Given the description of an element on the screen output the (x, y) to click on. 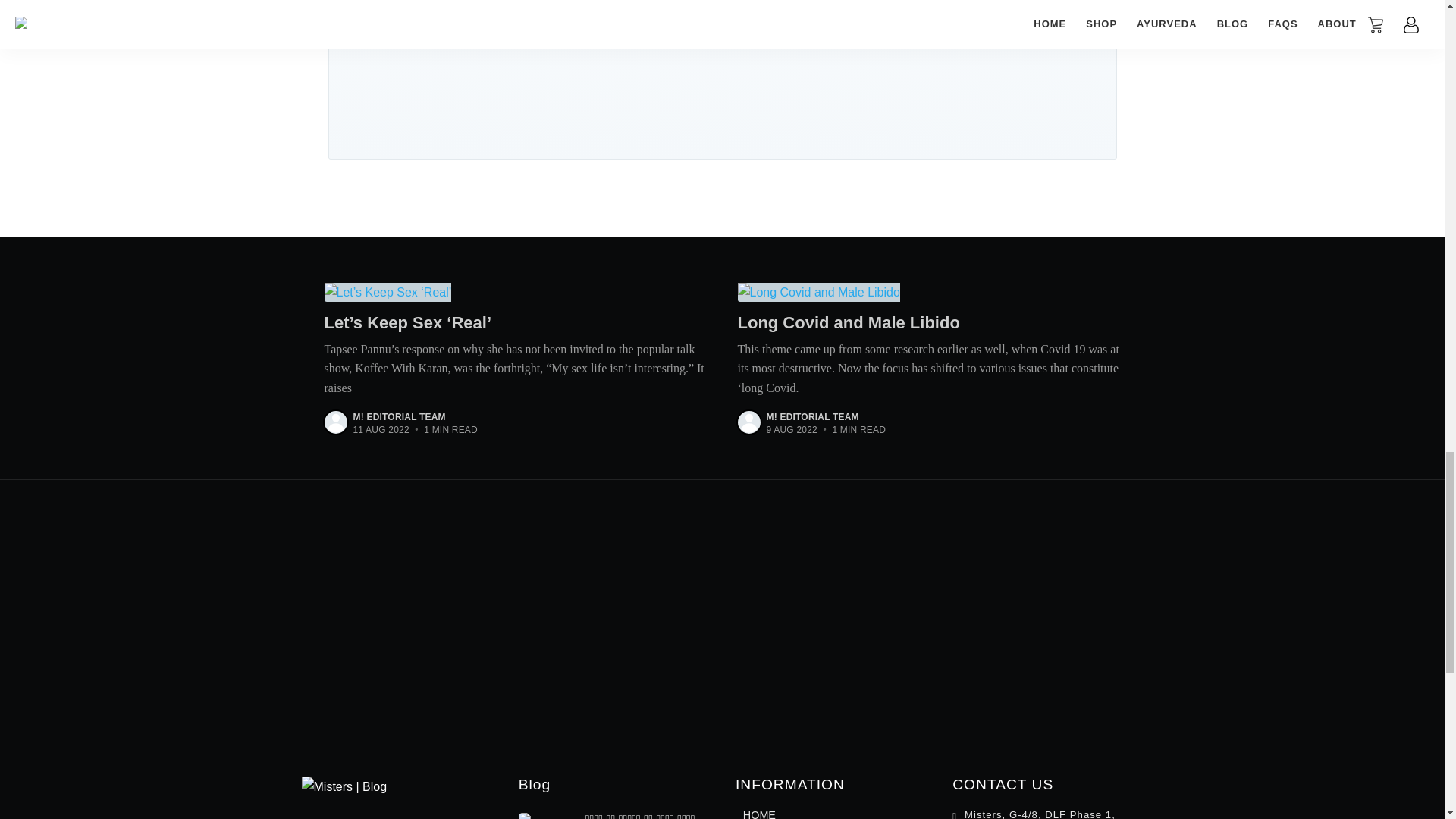
HOME (758, 812)
Blog (534, 784)
M! EDITORIAL TEAM (399, 416)
Subscribe (855, 26)
M! EDITORIAL TEAM (812, 416)
